Given the description of an element on the screen output the (x, y) to click on. 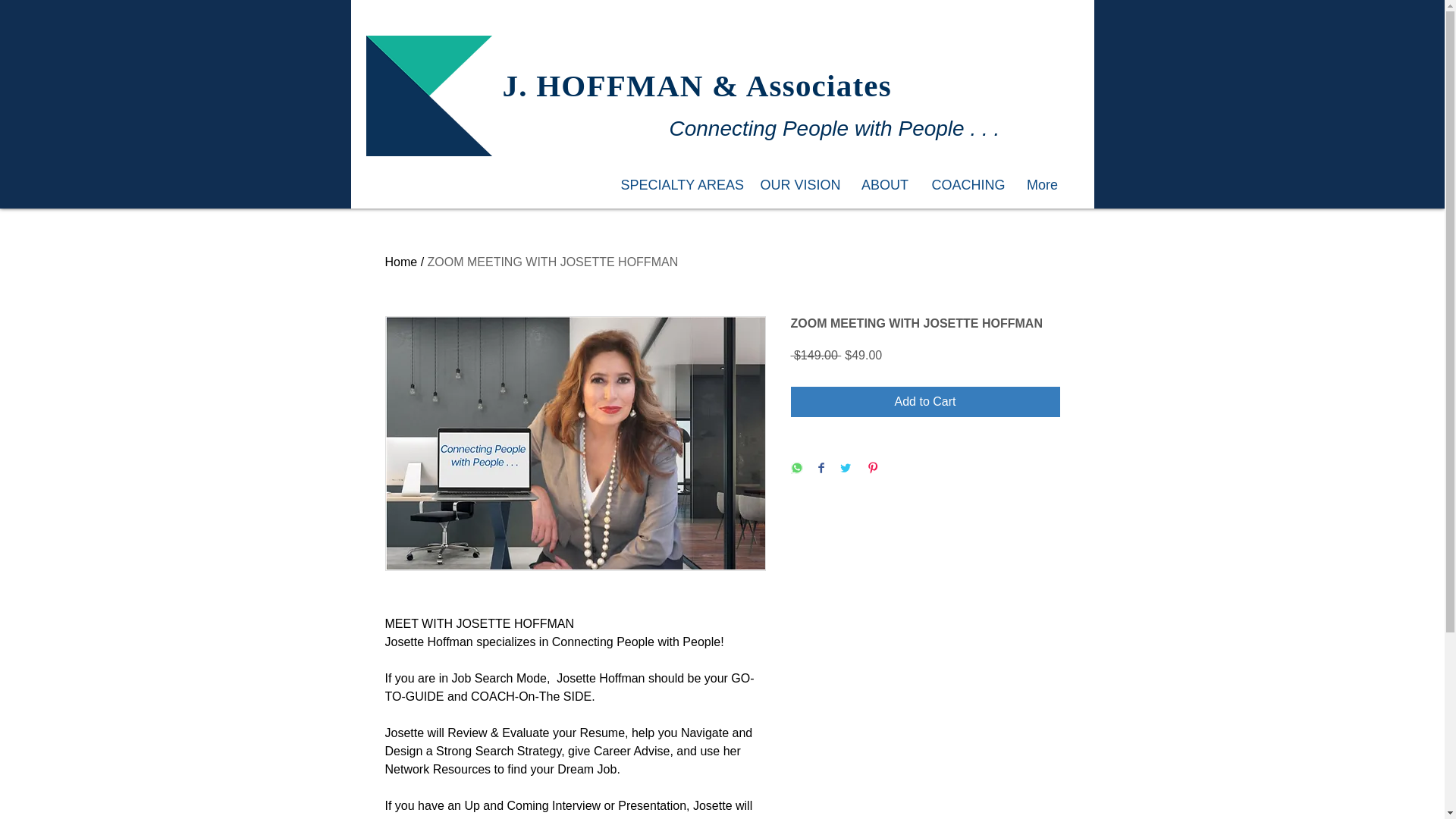
Home (401, 261)
OUR VISION (799, 184)
SPECIALTY AREAS (679, 184)
COACHING (967, 184)
Add to Cart (924, 401)
ZOOM MEETING WITH JOSETTE HOFFMAN (553, 261)
ABOUT (884, 184)
